Given the description of an element on the screen output the (x, y) to click on. 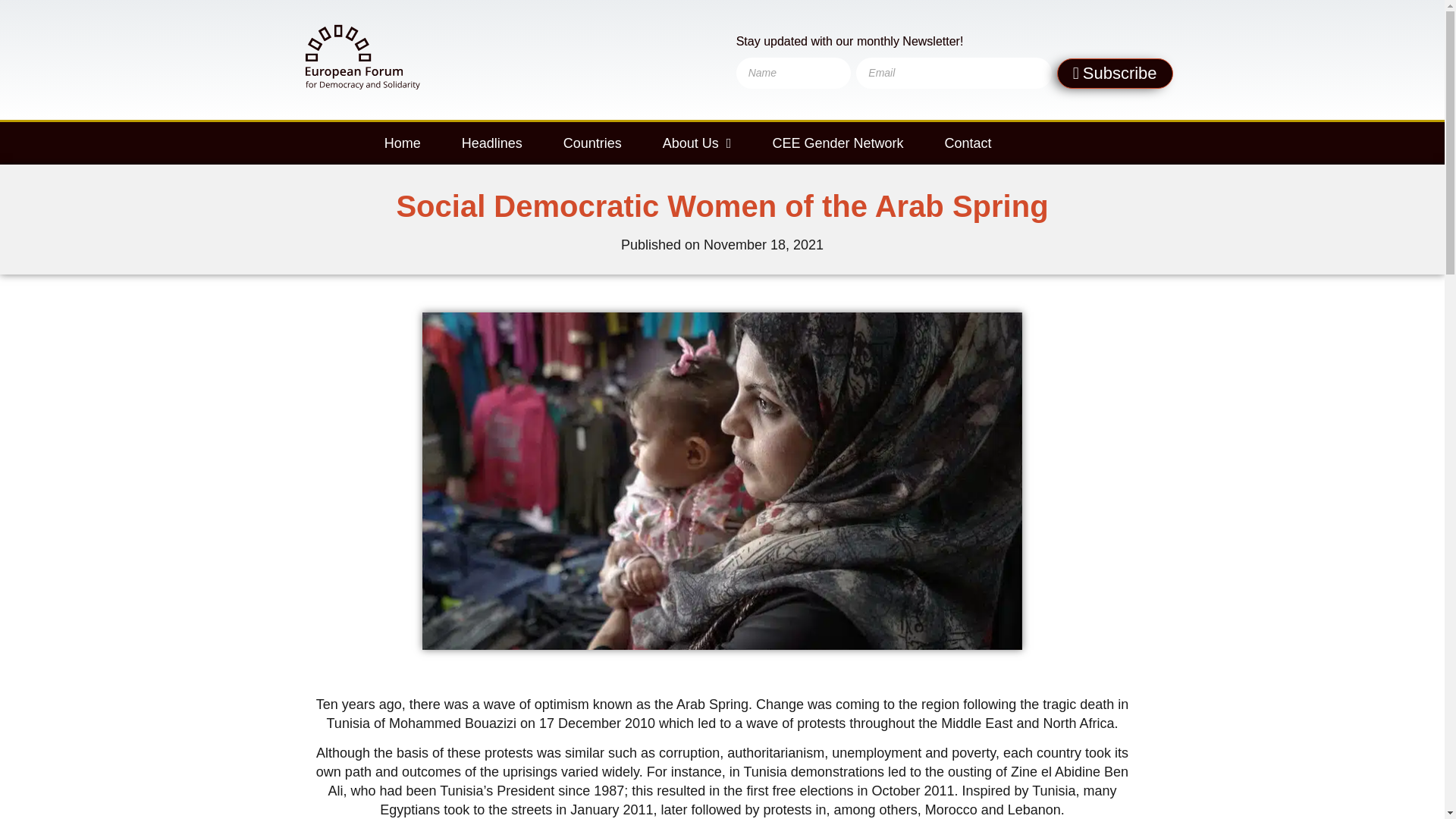
About Us (697, 143)
Published on November 18, 2021 (722, 244)
Countries (592, 143)
Headlines (492, 143)
Home (402, 143)
CEE Gender Network (837, 143)
Subscribe (1115, 73)
Contact (967, 143)
